Given the description of an element on the screen output the (x, y) to click on. 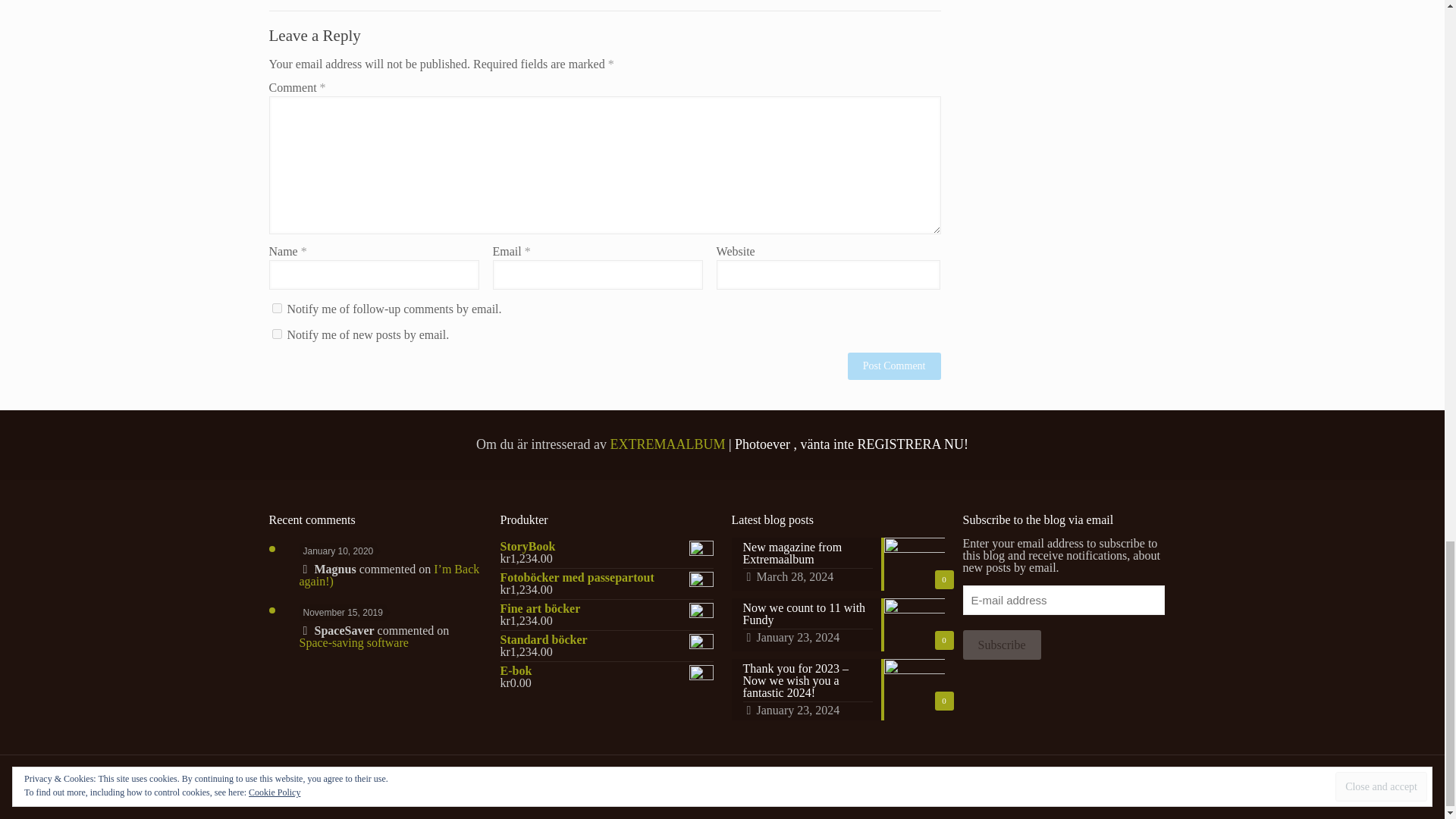
Facebook (1079, 784)
subscribe (275, 307)
subscribe (275, 334)
YouTube (1110, 784)
Post Comment (893, 366)
